Given the description of an element on the screen output the (x, y) to click on. 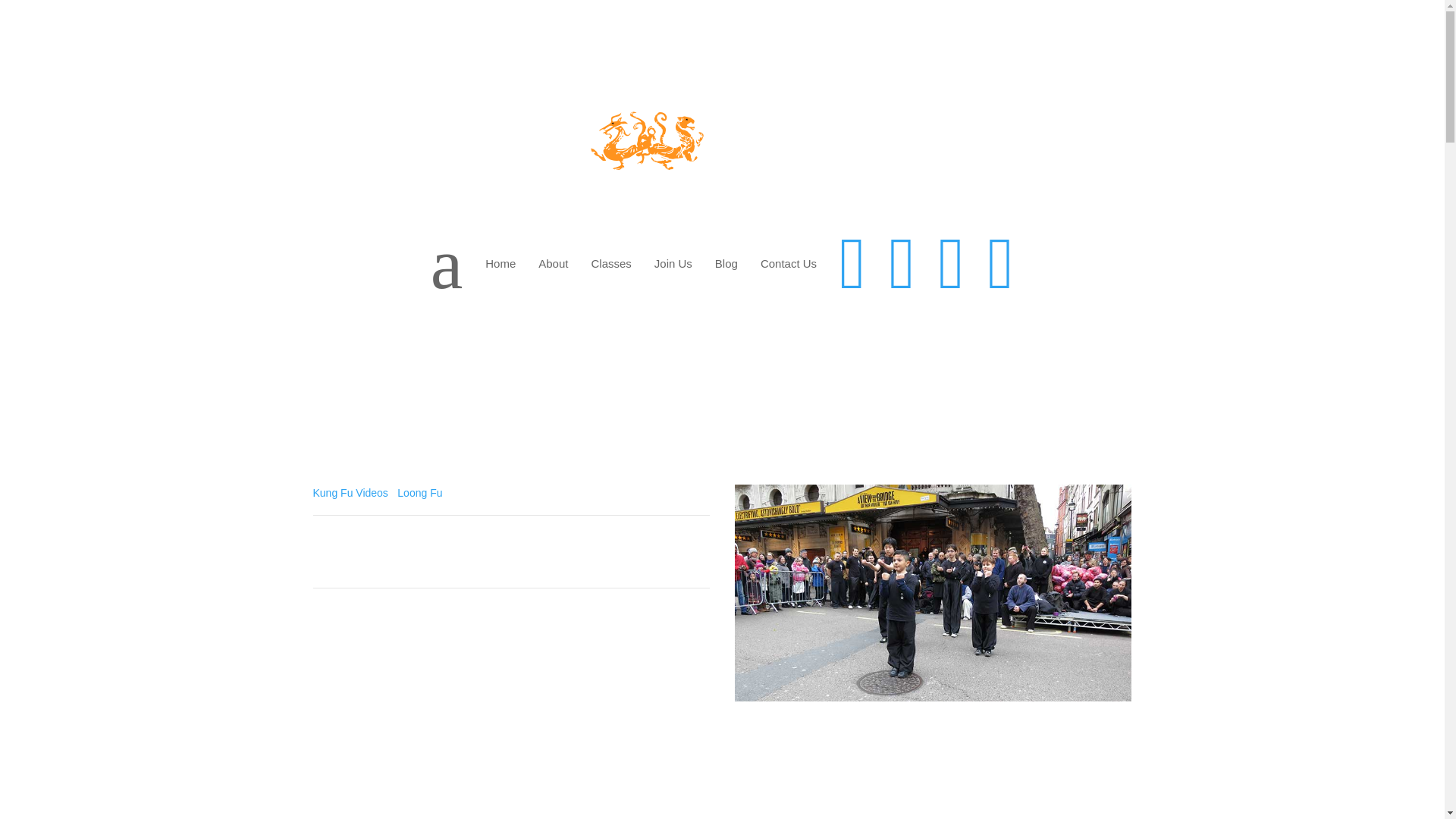
Contact Us (788, 263)
Follow on Facebook (1058, 726)
Home (500, 263)
Join Us (673, 263)
Follow on Instagram (1118, 726)
Loong Fu Tong (412, 660)
Classes (610, 263)
Loong Fu (419, 492)
About (553, 263)
blog-china-town-london-demo (933, 592)
